Given the description of an element on the screen output the (x, y) to click on. 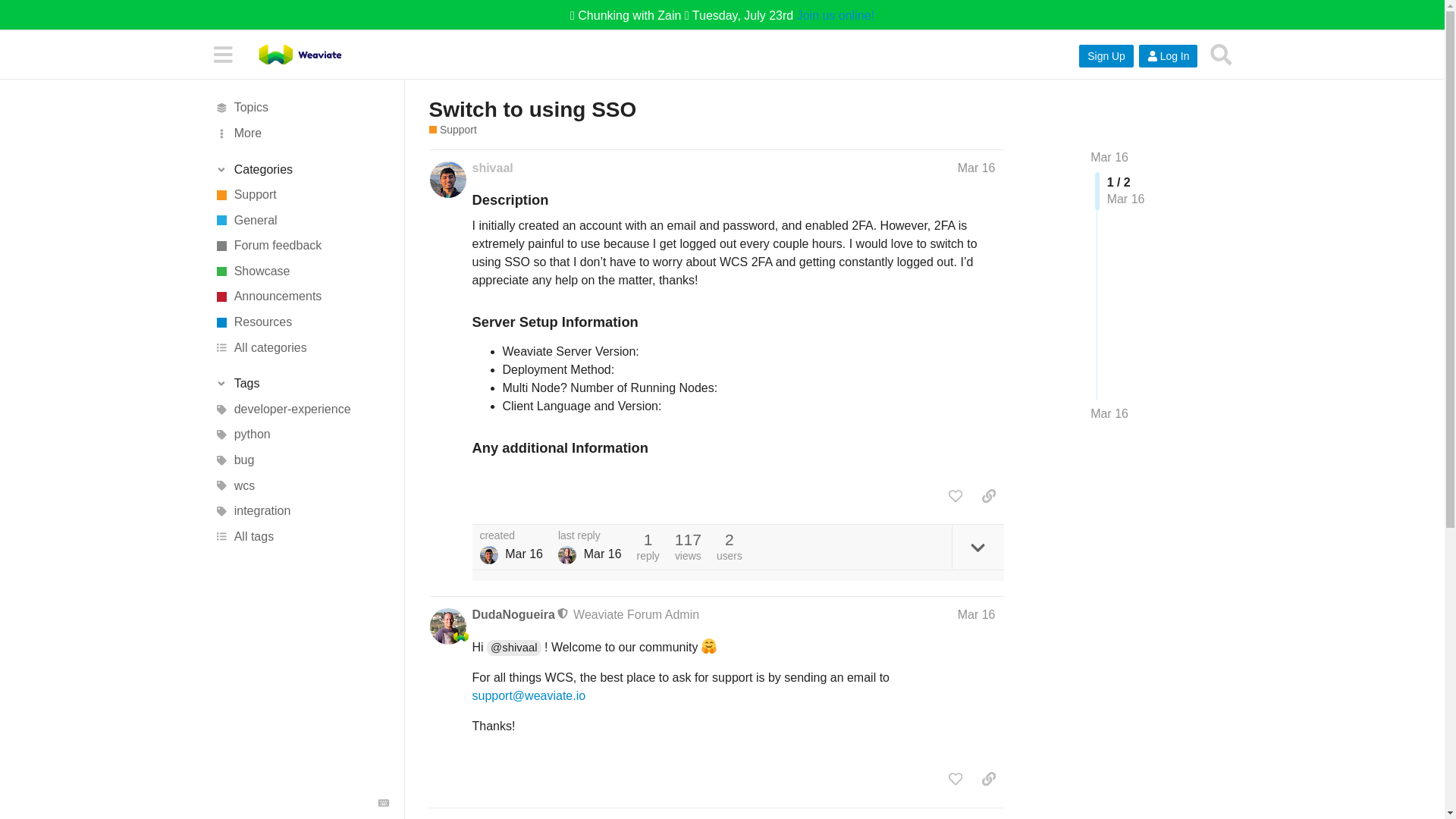
Categories (301, 169)
Log In (1168, 56)
Keyboard Shortcuts (384, 802)
Mar 16 (1109, 156)
Mar 16 (1109, 413)
Forum feedback (301, 246)
All categories (301, 347)
Announcements (301, 297)
Switch to using SSO (533, 109)
Sidebar (222, 53)
developer-experience (301, 409)
shivaal (491, 167)
Toggle section (301, 169)
All topics (301, 108)
